Given the description of an element on the screen output the (x, y) to click on. 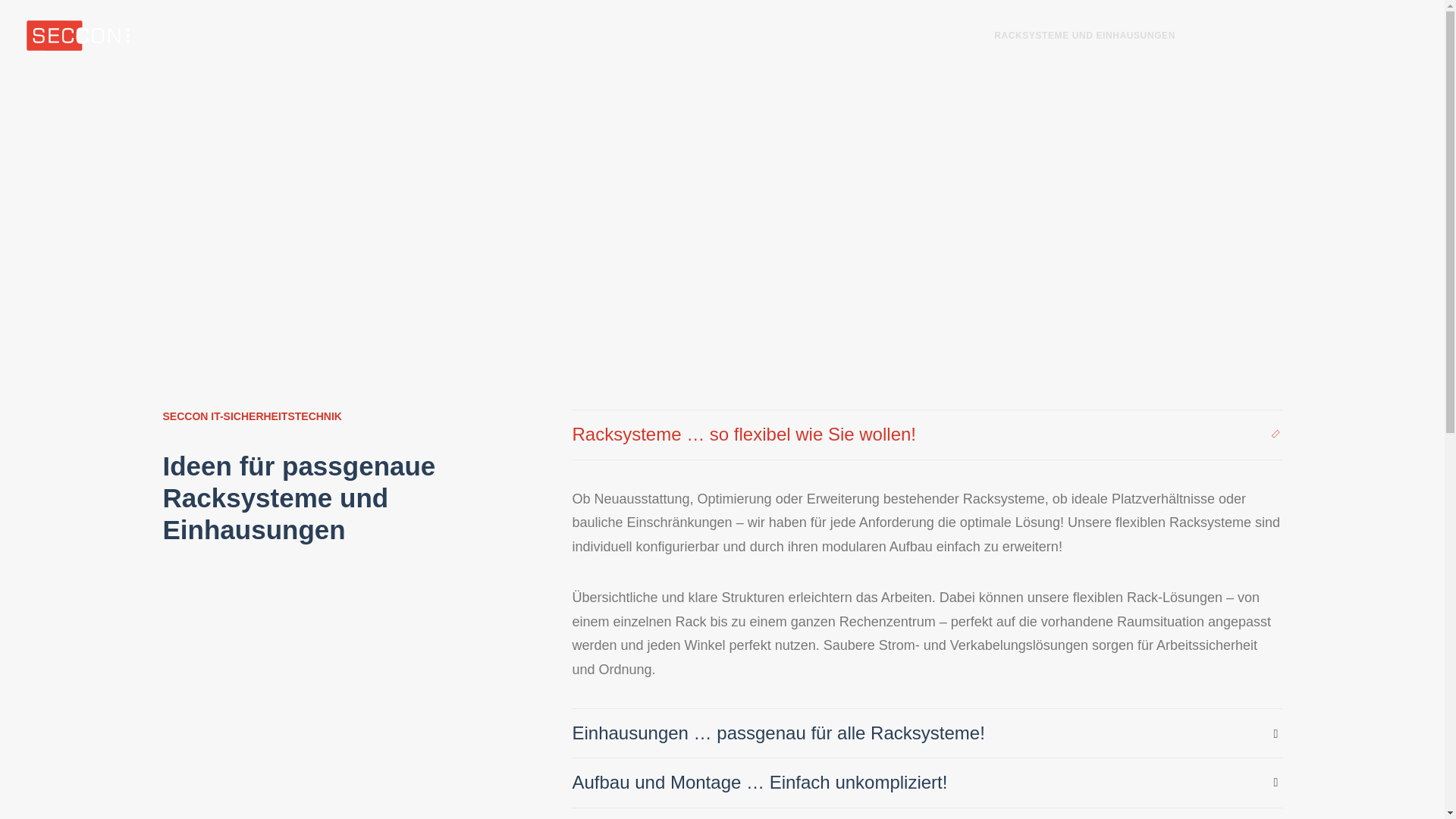
KONTAKT | TEAM Element type: text (1371, 35)
LEISTUNG Element type: text (945, 35)
FAQ Element type: text (1209, 35)
RACKSYSTEME UND EINHAUSUNGEN Element type: text (1084, 35)
REFERENZEN Element type: text (1277, 35)
